Given the description of an element on the screen output the (x, y) to click on. 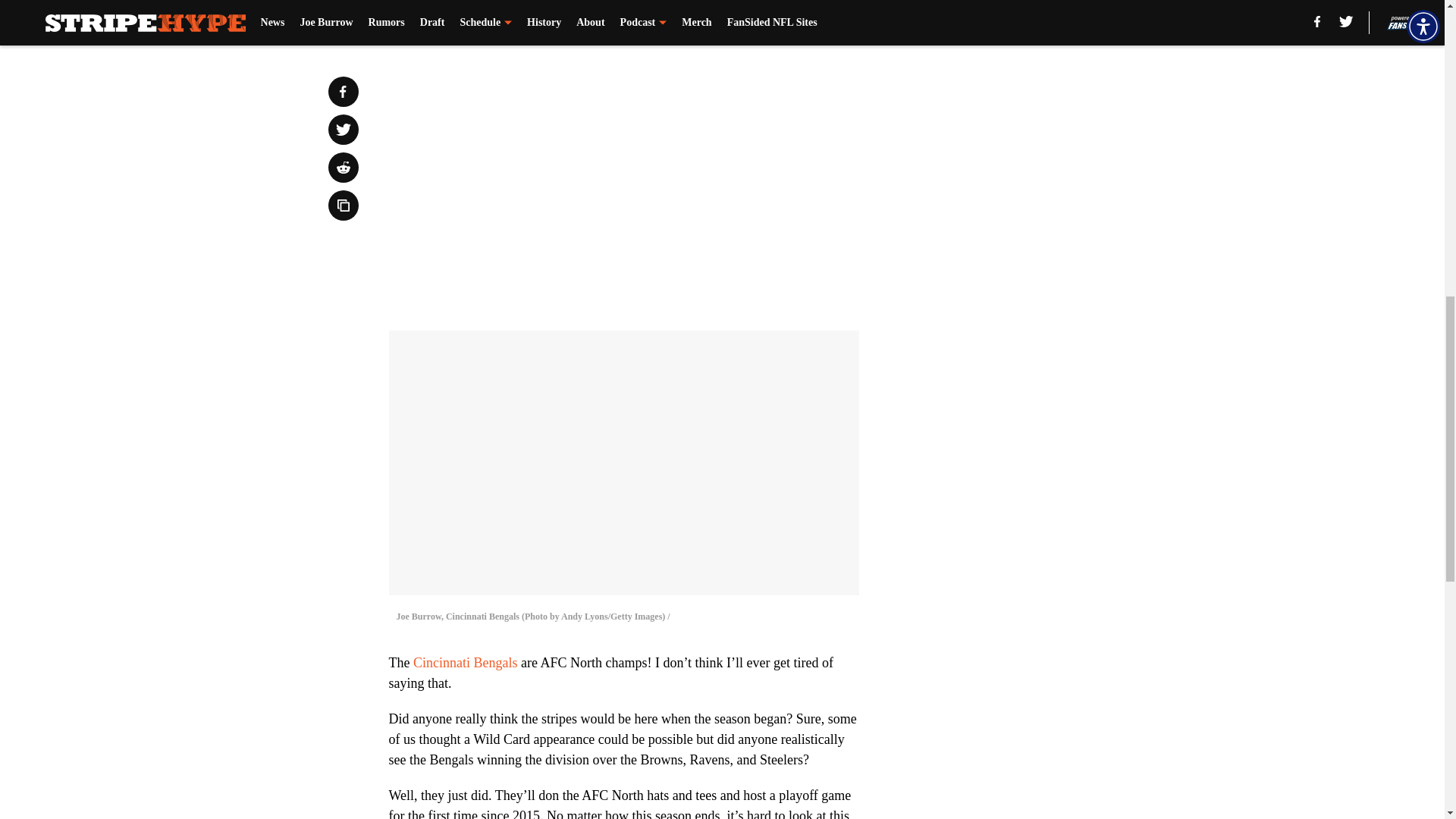
Next (813, 20)
Cincinnati Bengals (464, 662)
Prev (433, 20)
